Given the description of an element on the screen output the (x, y) to click on. 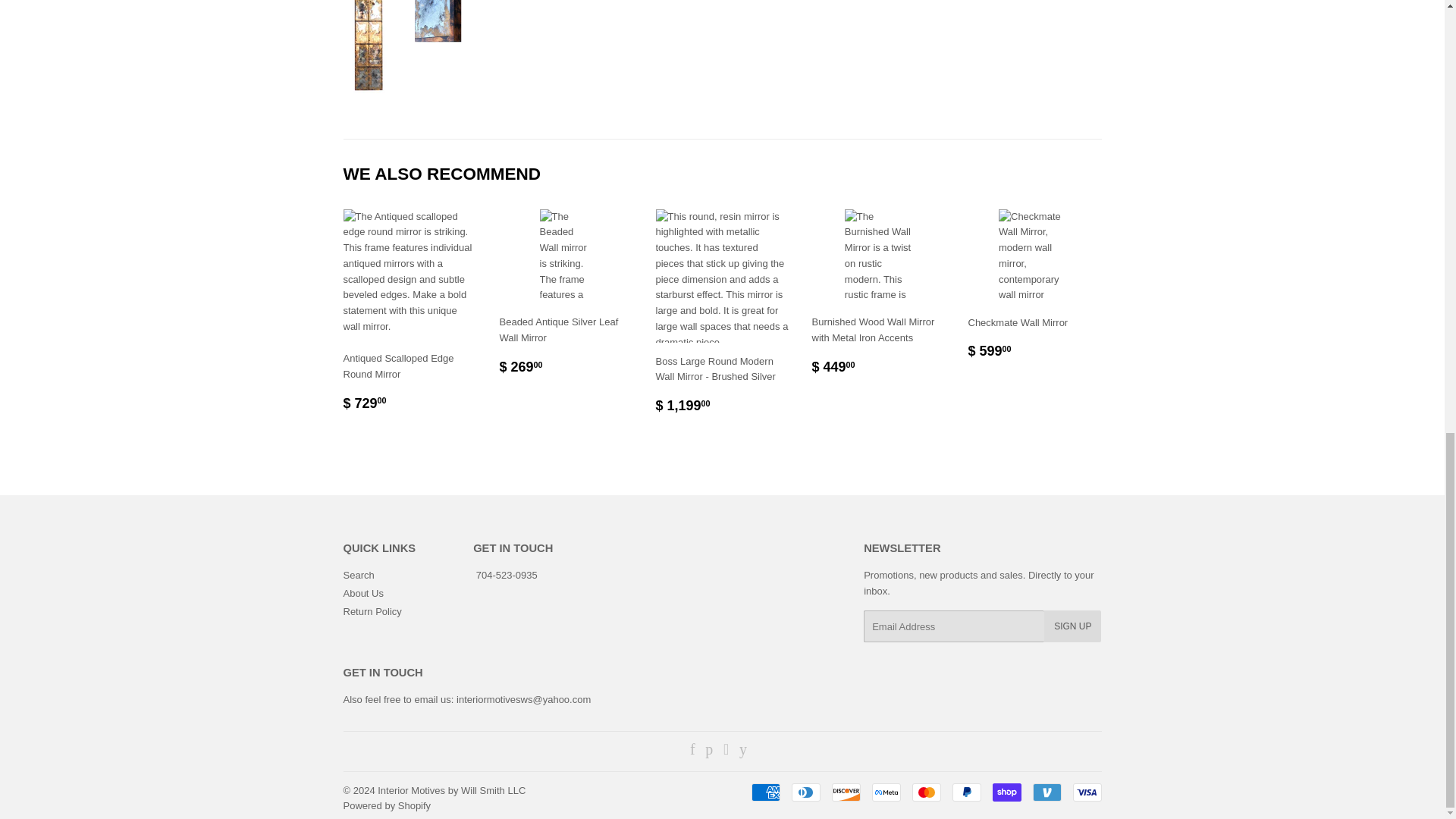
Meta Pay (886, 791)
Visa (1085, 791)
SIGN UP (1071, 626)
About Us (362, 593)
American Express (764, 791)
Return Policy (371, 611)
PayPal (966, 791)
Venmo (1046, 791)
Diners Club (806, 791)
Discover (845, 791)
